Given the description of an element on the screen output the (x, y) to click on. 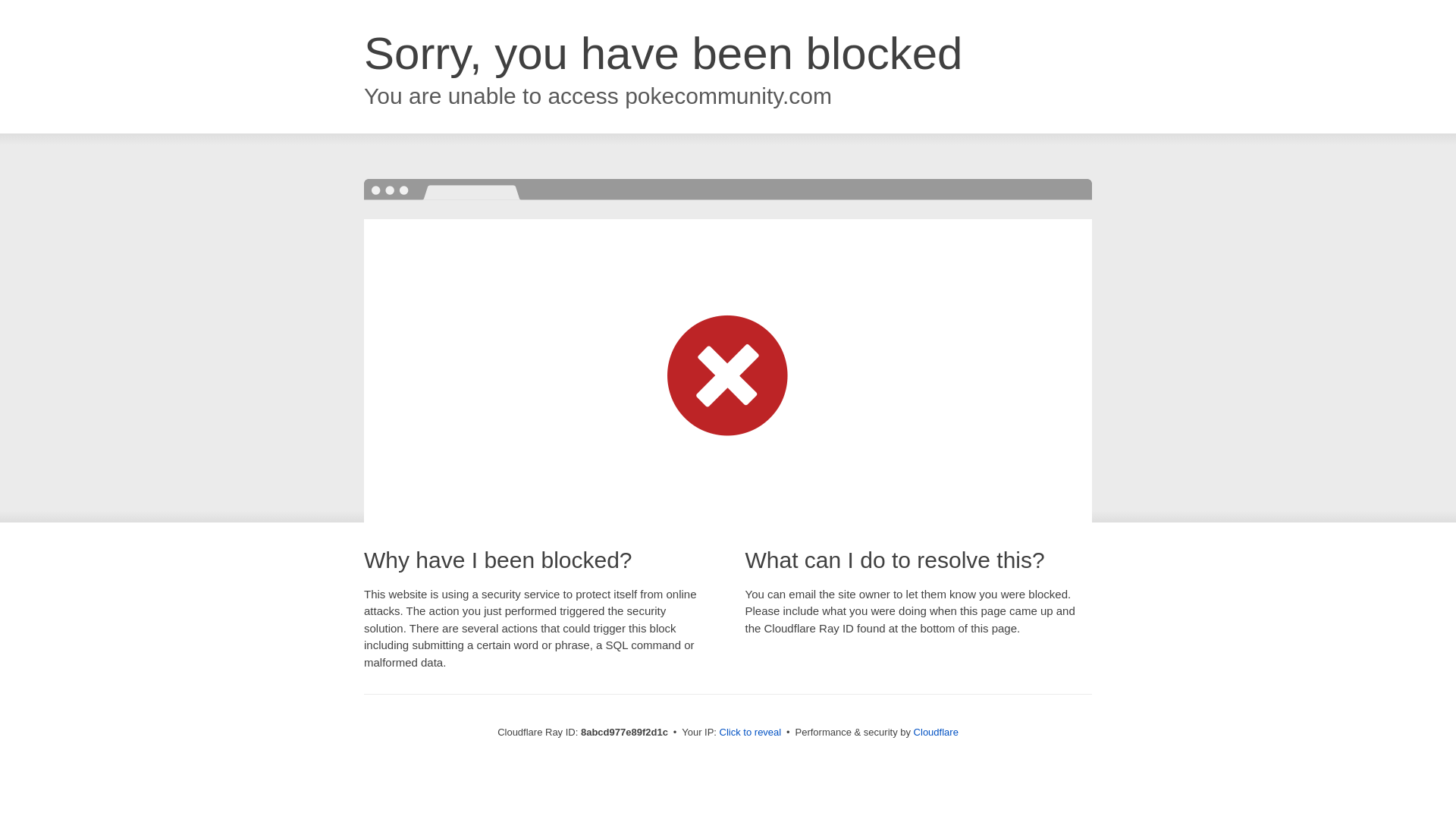
Click to reveal (750, 732)
Cloudflare (936, 731)
